Given the description of an element on the screen output the (x, y) to click on. 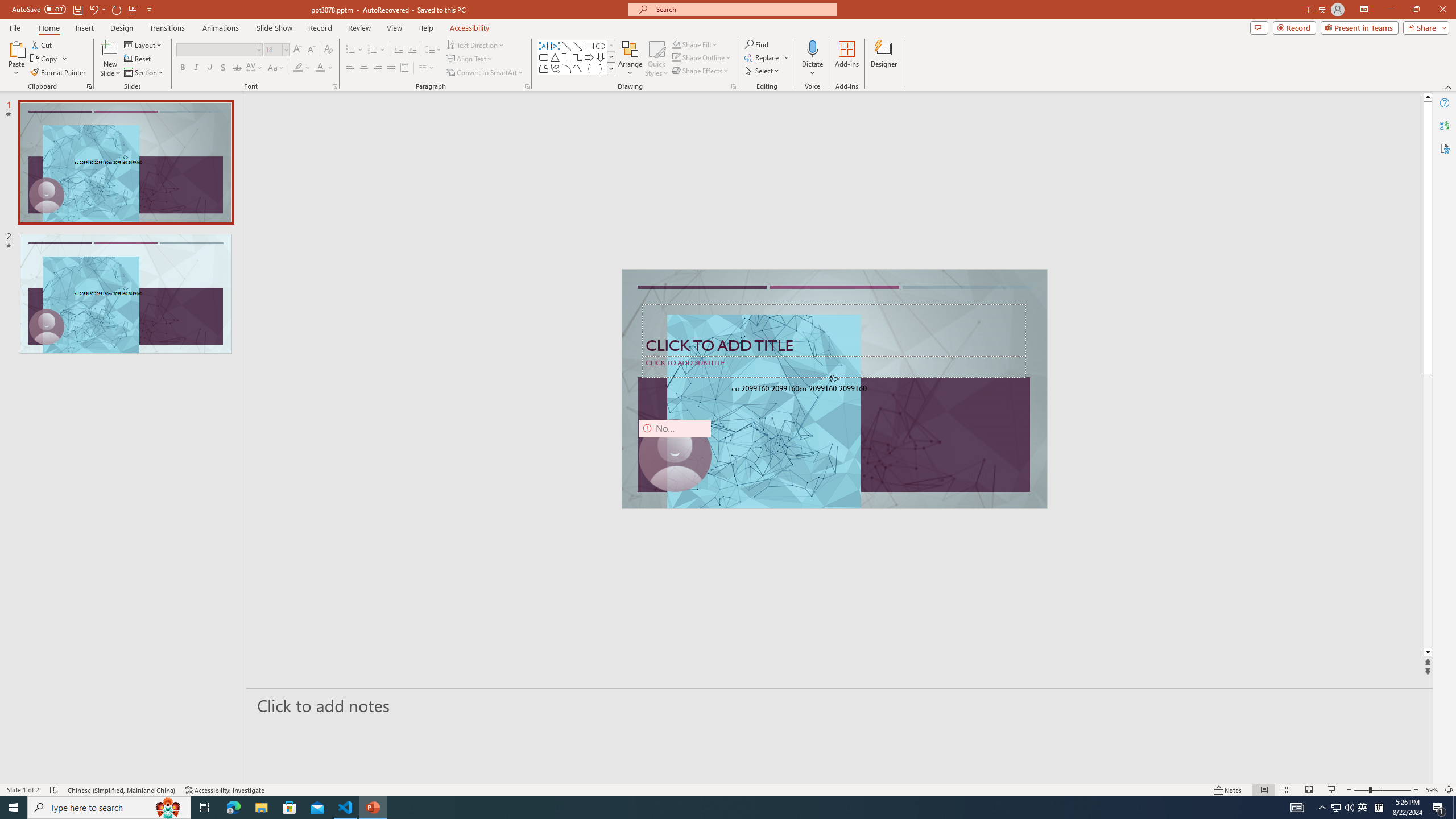
An abstract genetic concept (833, 388)
